Given the description of an element on the screen output the (x, y) to click on. 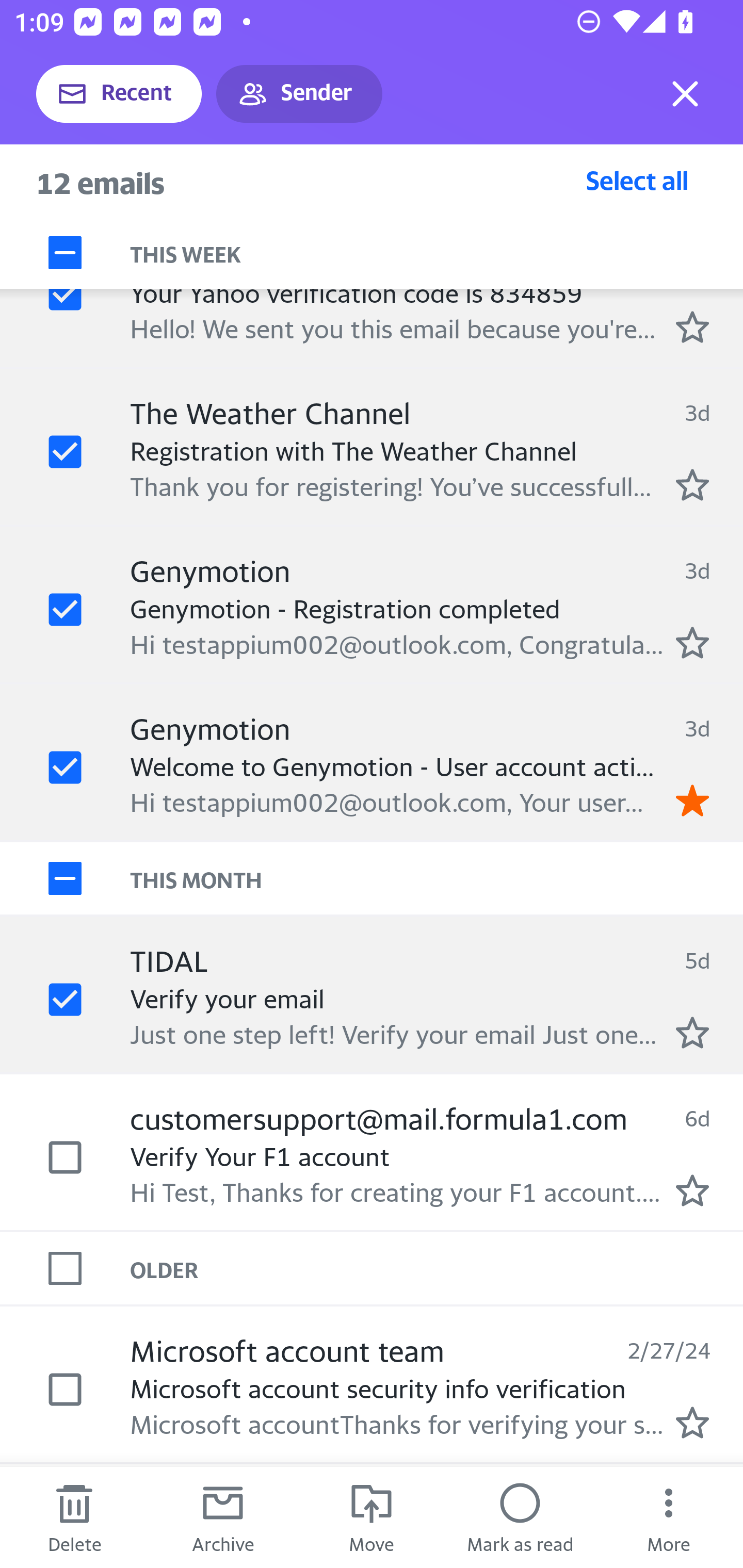
Sender (299, 93)
Exit selection mode (684, 93)
Select all (637, 180)
Mark as starred. (692, 326)
Mark as starred. (692, 485)
Mark as starred. (692, 642)
Remove star. (692, 800)
THIS MONTH (436, 878)
Mark as starred. (692, 1032)
Mark as starred. (692, 1190)
OLDER (436, 1267)
Mark as starred. (692, 1422)
Delete (74, 1517)
Archive (222, 1517)
Move (371, 1517)
Mark as read (519, 1517)
More (668, 1517)
